Given the description of an element on the screen output the (x, y) to click on. 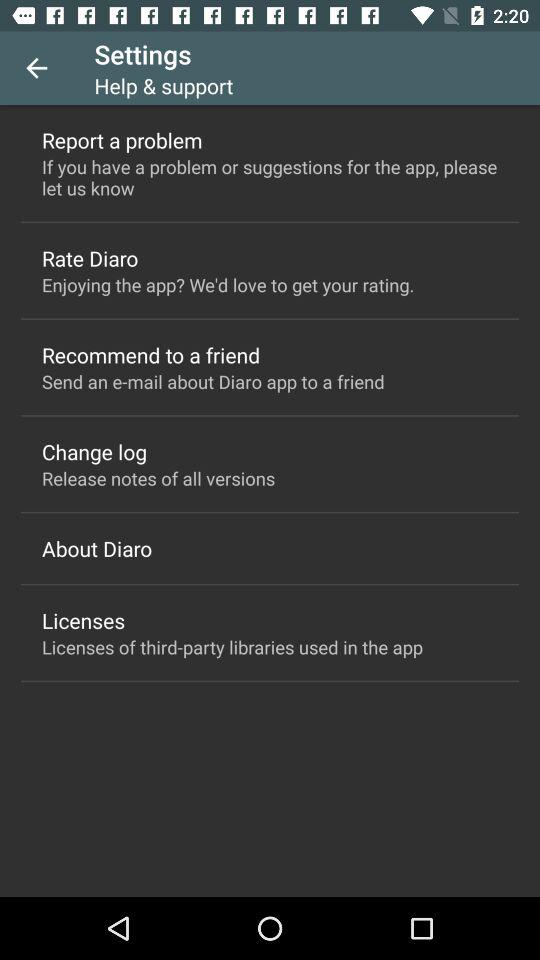
select icon below the if you have icon (90, 258)
